Given the description of an element on the screen output the (x, y) to click on. 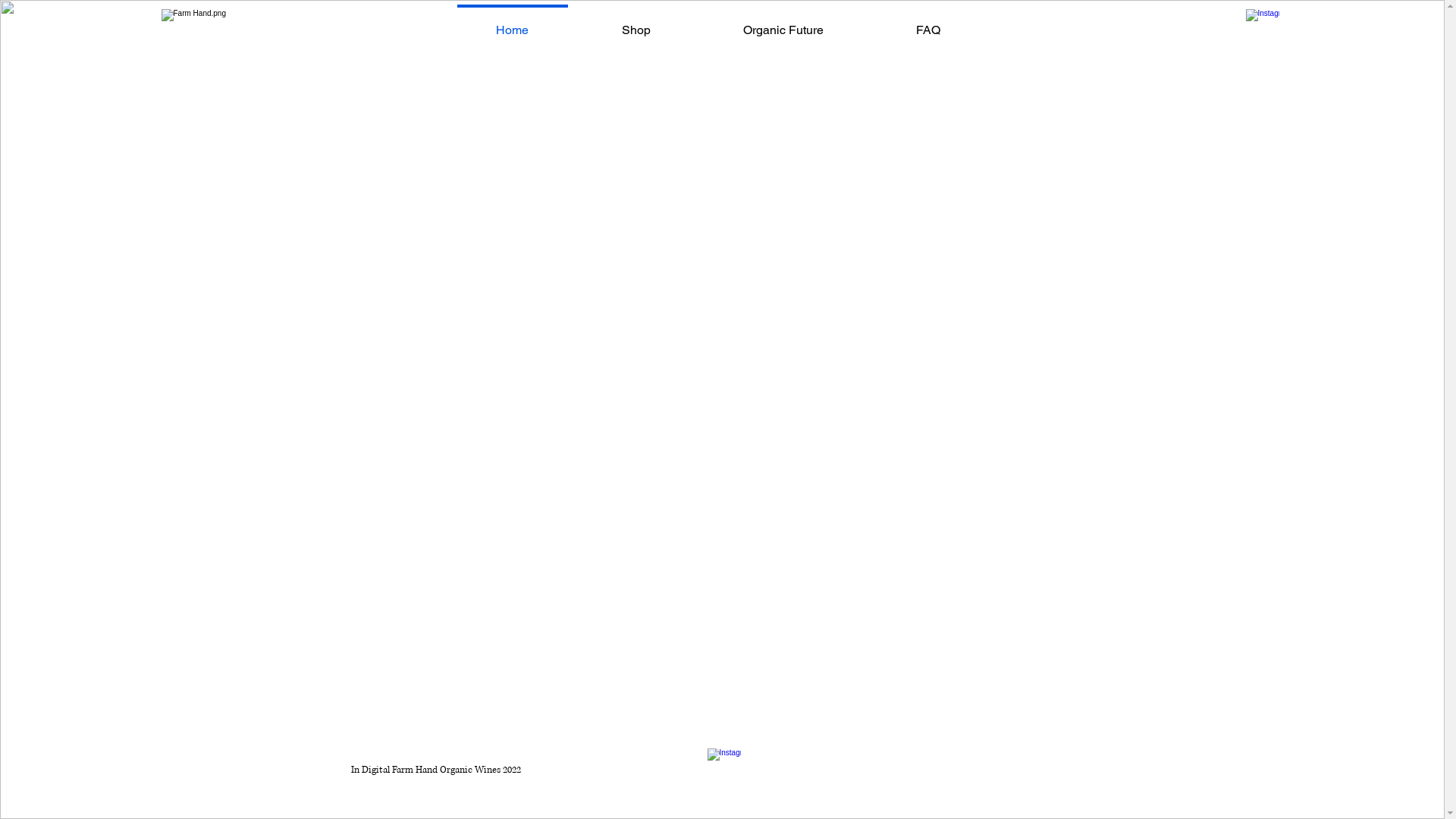
Home Element type: text (511, 23)
Terms and Conditions  Element type: text (902, 774)
Shop Element type: text (635, 23)
FAQ Element type: text (927, 23)
Privacy  & Shipping Policy  Element type: text (1005, 774)
Organic Future Element type: text (782, 23)
